Given the description of an element on the screen output the (x, y) to click on. 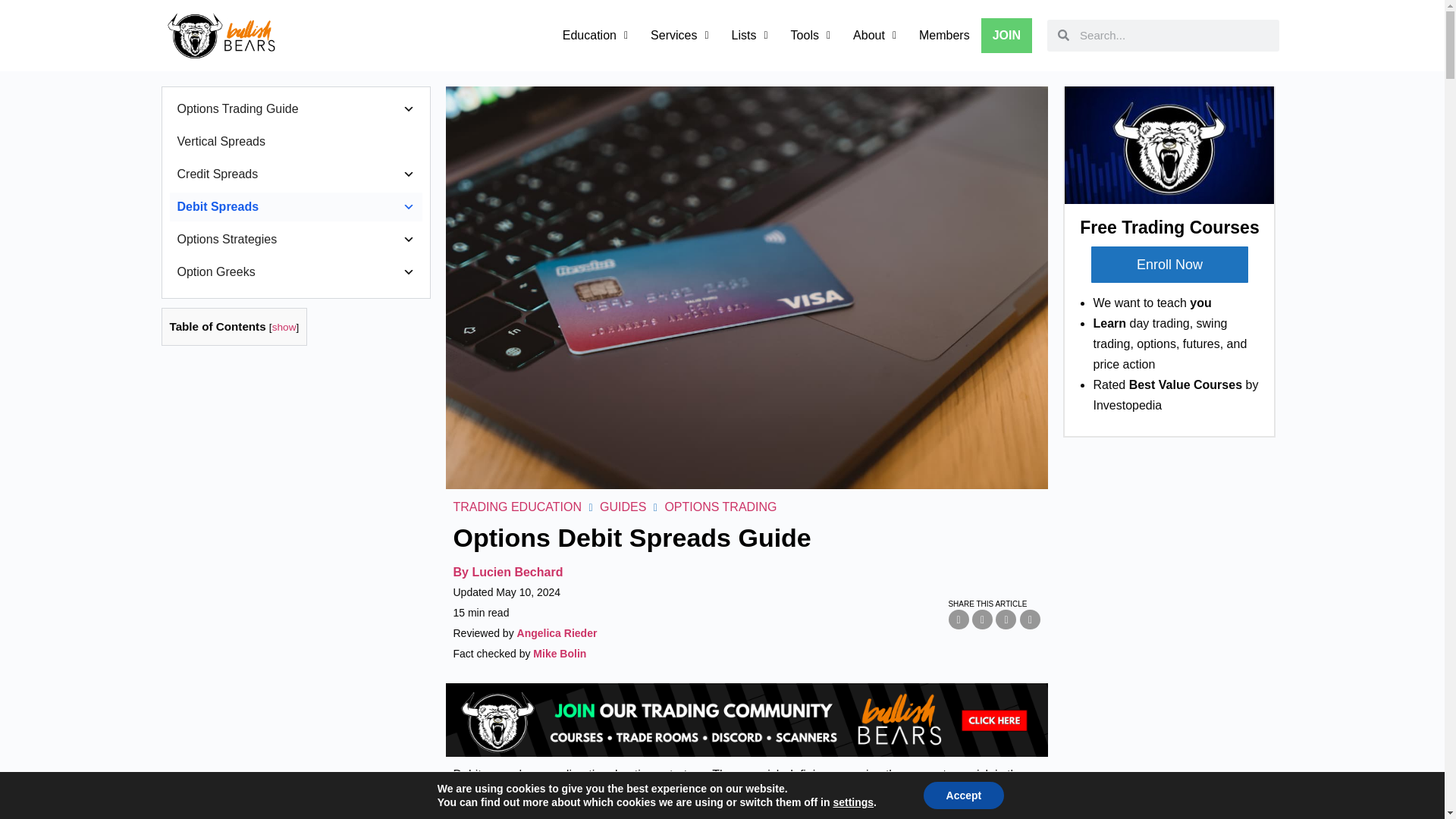
Tools (809, 35)
Lists (749, 35)
Services (679, 35)
Education (595, 35)
